Given the description of an element on the screen output the (x, y) to click on. 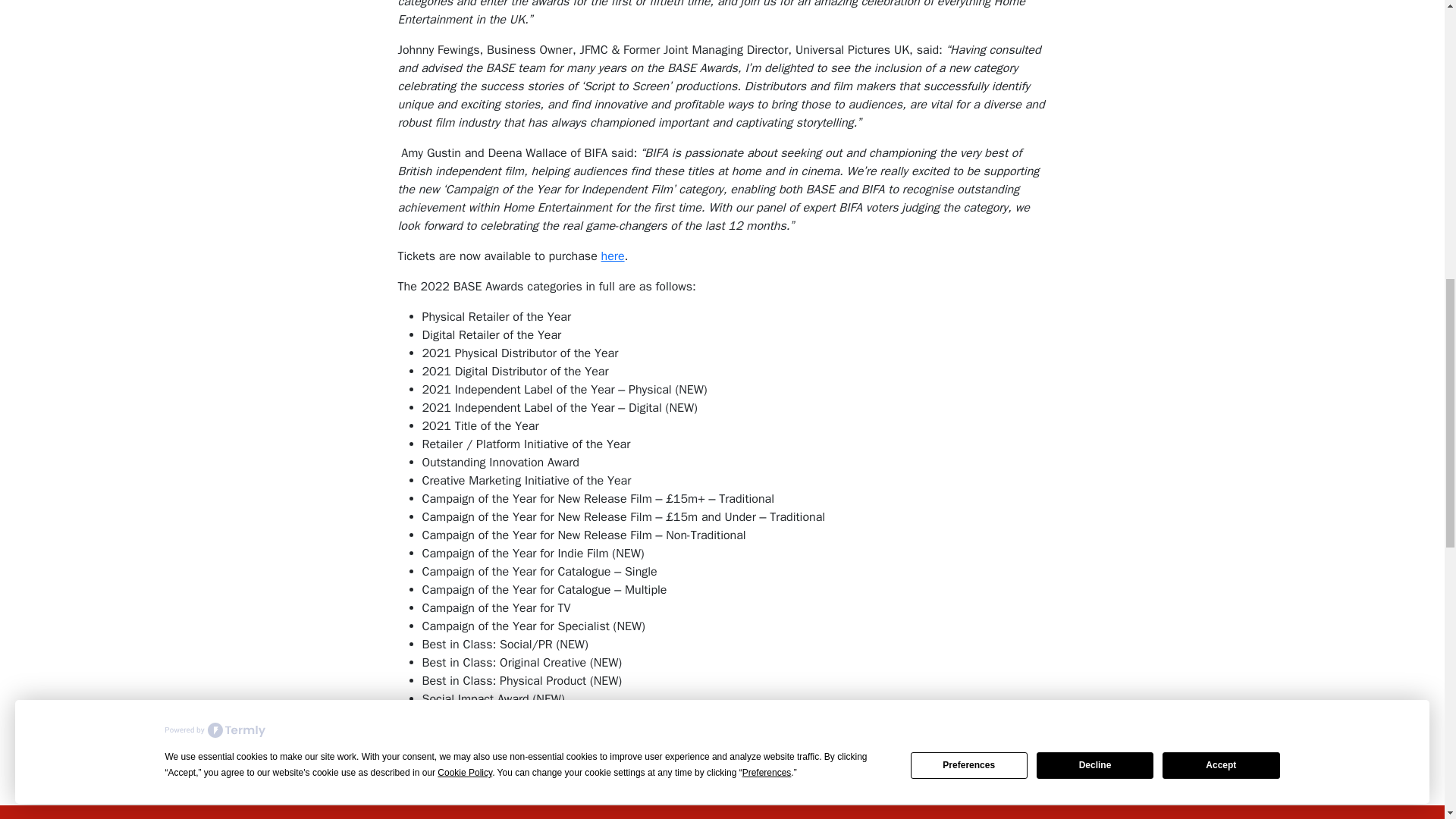
here (612, 255)
